Given the description of an element on the screen output the (x, y) to click on. 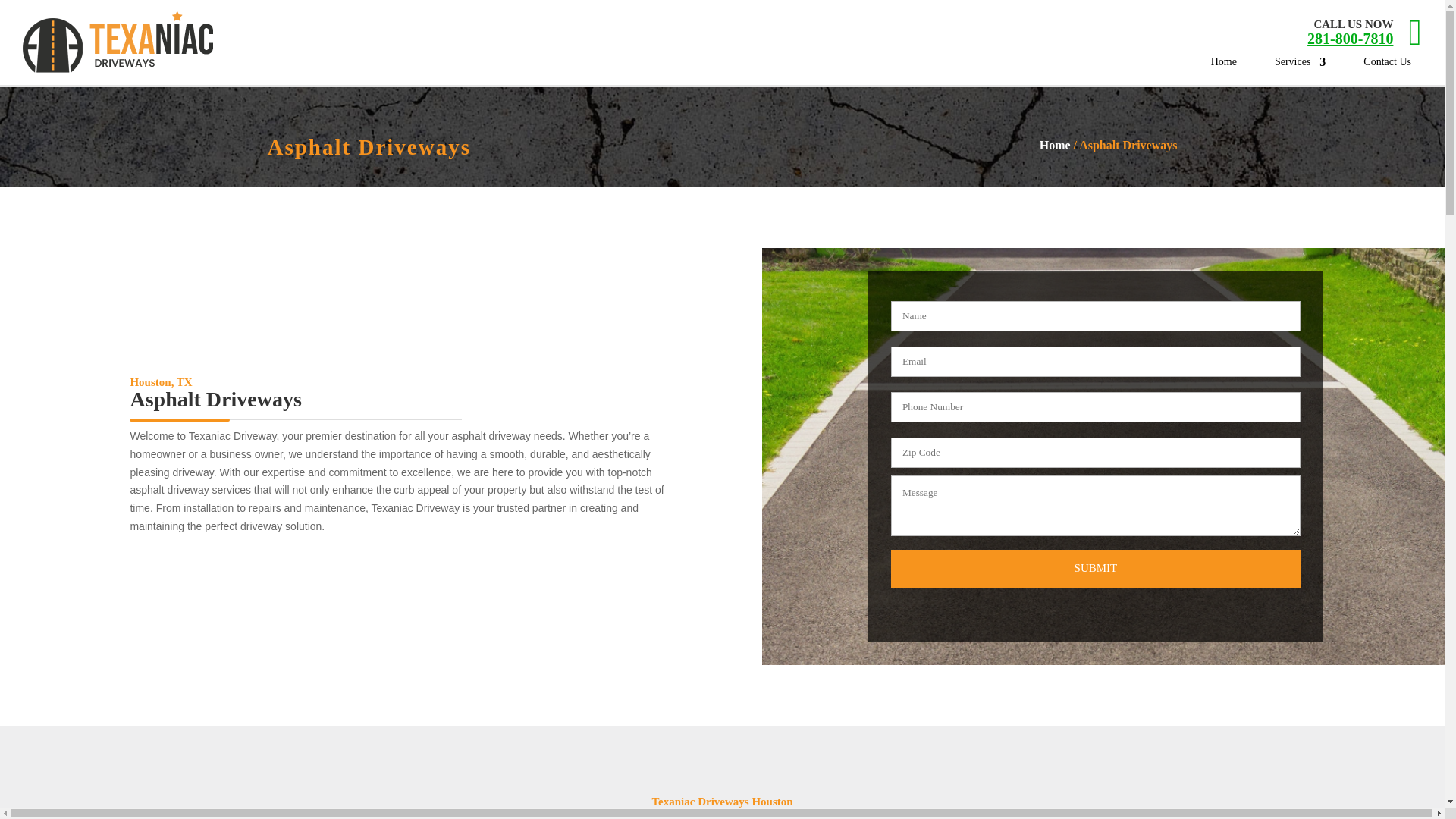
Contact Us (1386, 64)
281-800-7810 (1350, 38)
Submit (1095, 568)
Services (1299, 64)
Submit (1095, 568)
Home (1223, 64)
web-header-logo (117, 41)
